Given the description of an element on the screen output the (x, y) to click on. 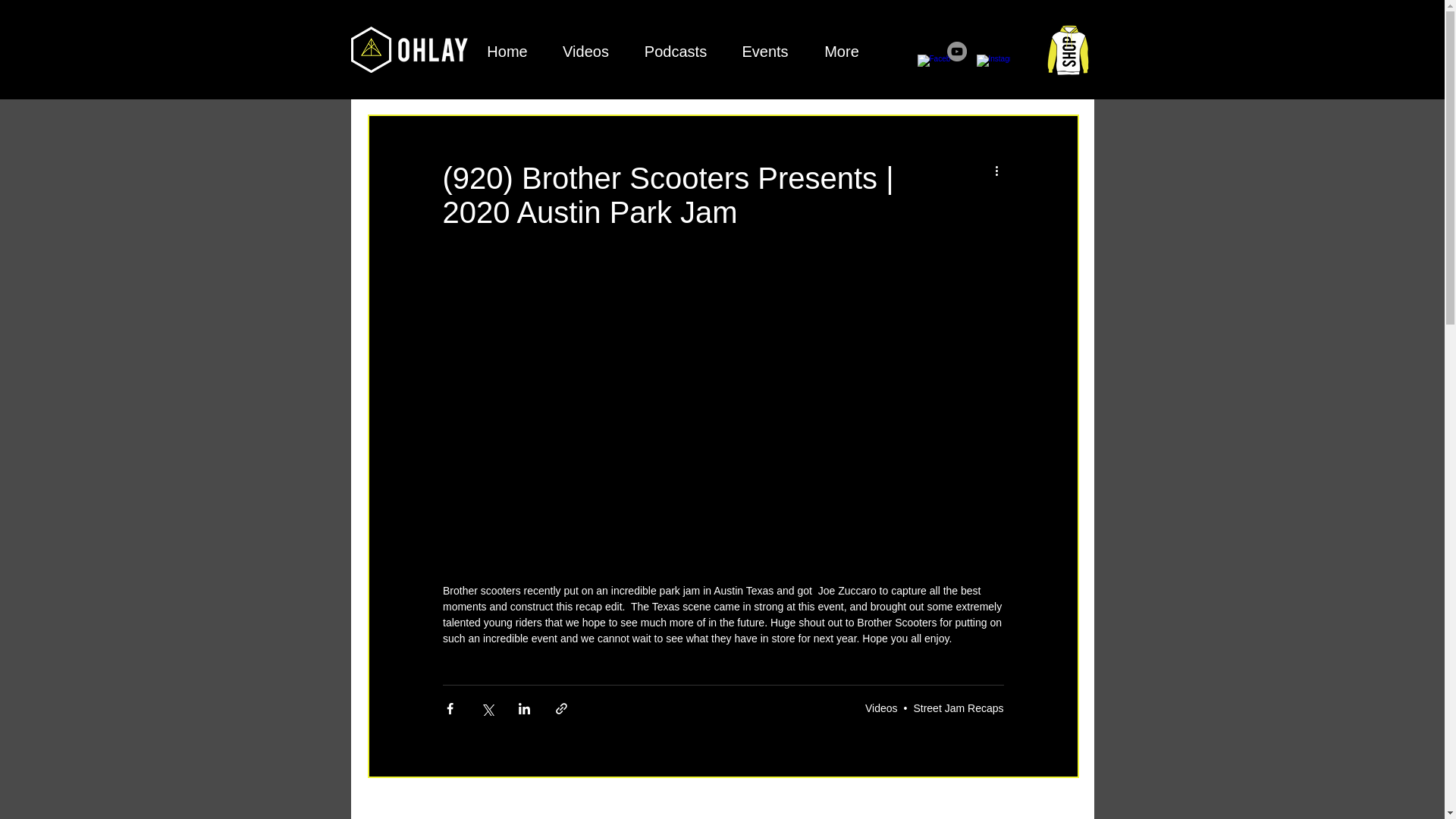
Videos (585, 51)
See All (1061, 806)
Street Jam Recaps (957, 707)
Podcasts (674, 51)
Events (765, 51)
Videos (881, 707)
Home (507, 51)
